Given the description of an element on the screen output the (x, y) to click on. 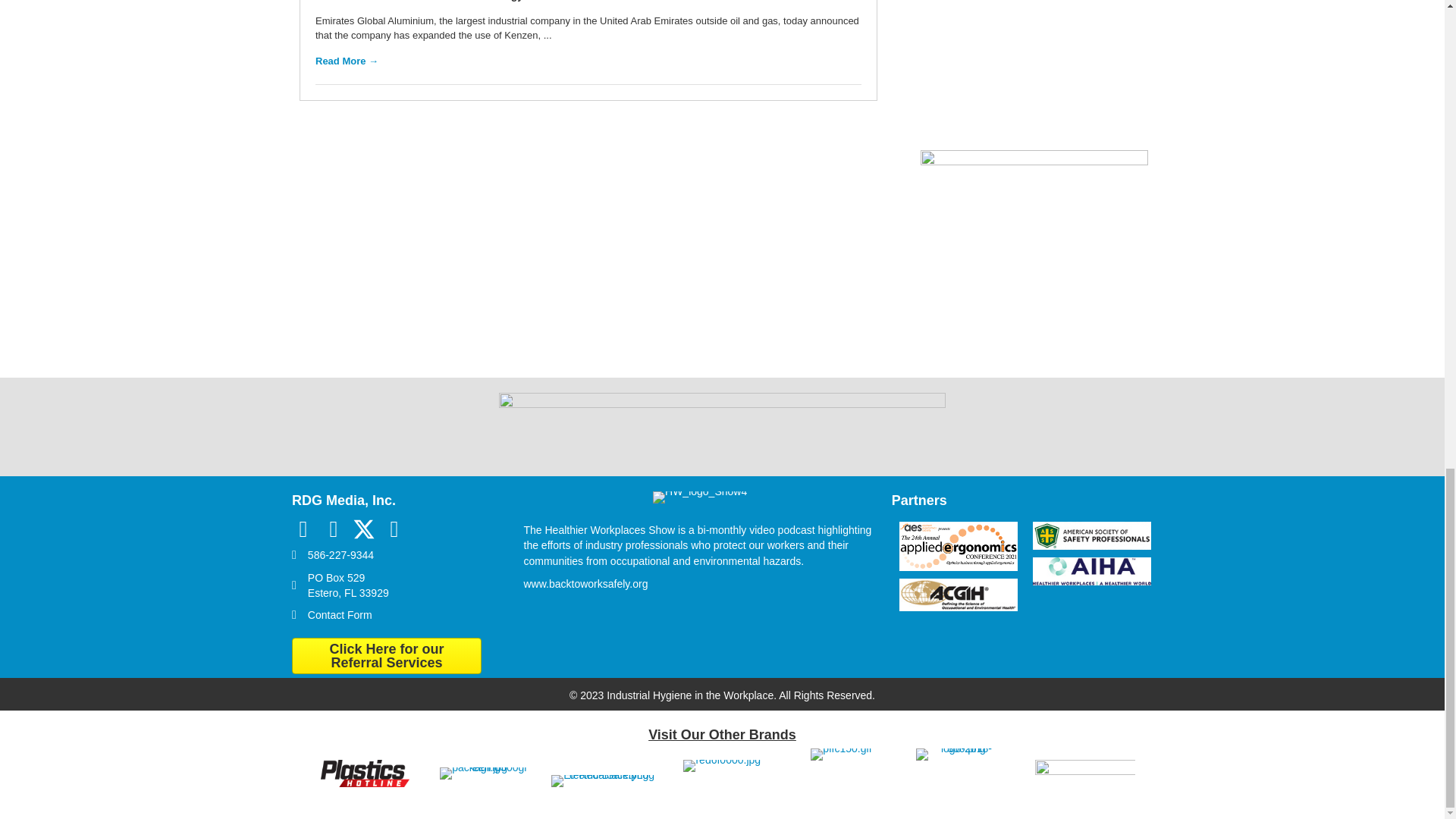
Read More (346, 60)
